Given the description of an element on the screen output the (x, y) to click on. 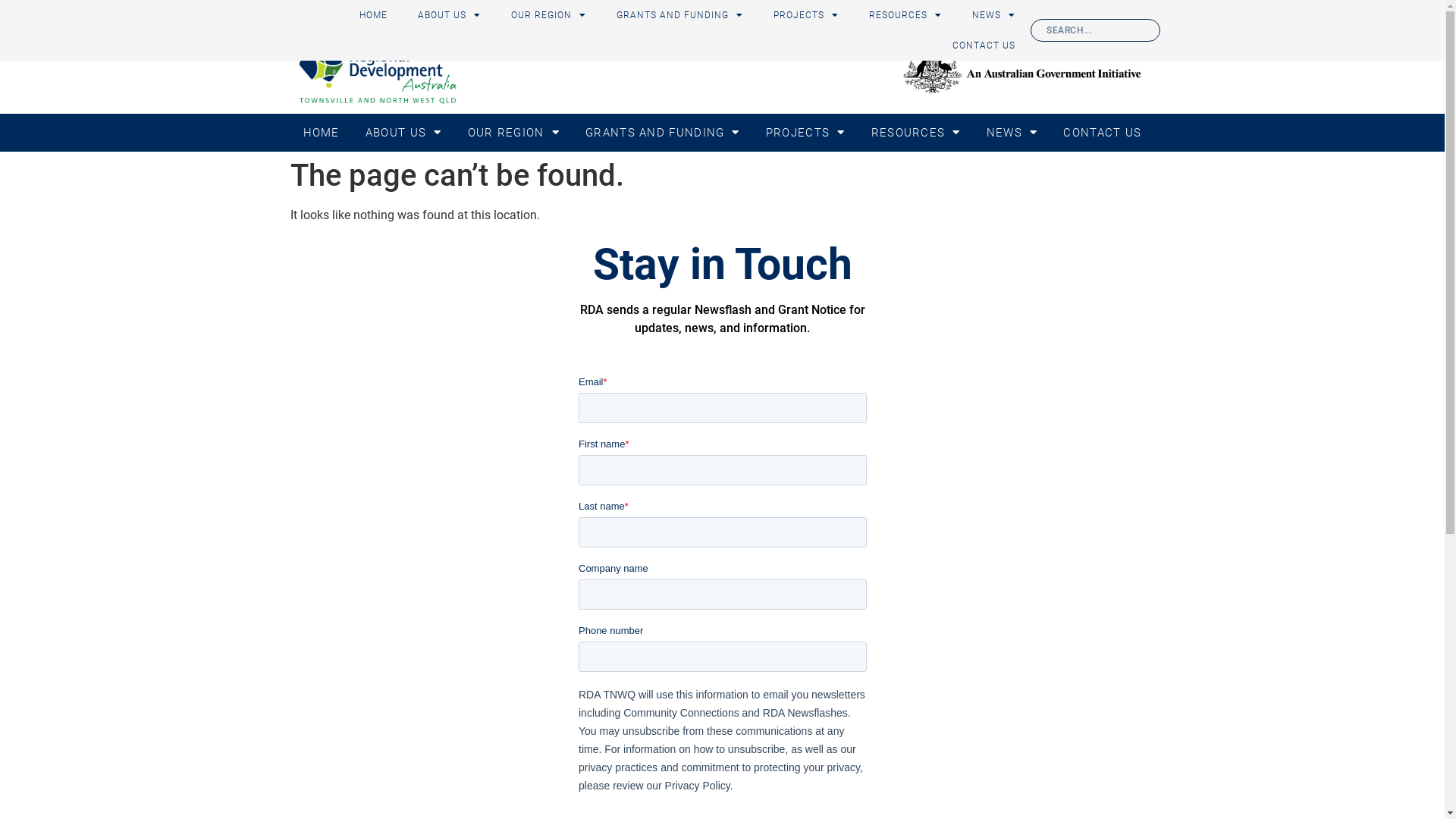
ABOUT US Element type: text (448, 15)
OUR REGION Element type: text (513, 132)
HOME Element type: text (320, 132)
HOME Element type: text (373, 15)
CONTACT US Element type: text (1102, 132)
PROJECTS Element type: text (805, 15)
PROJECTS Element type: text (805, 132)
NEWS Element type: text (1012, 132)
RESOURCES Element type: text (905, 15)
RESOURCES Element type: text (915, 132)
GRANTS AND FUNDING Element type: text (662, 132)
CONTACT US Element type: text (983, 45)
OUR REGION Element type: text (548, 15)
GRANTS AND FUNDING Element type: text (679, 15)
ABOUT US Element type: text (403, 132)
NEWS Element type: text (993, 15)
